Given the description of an element on the screen output the (x, y) to click on. 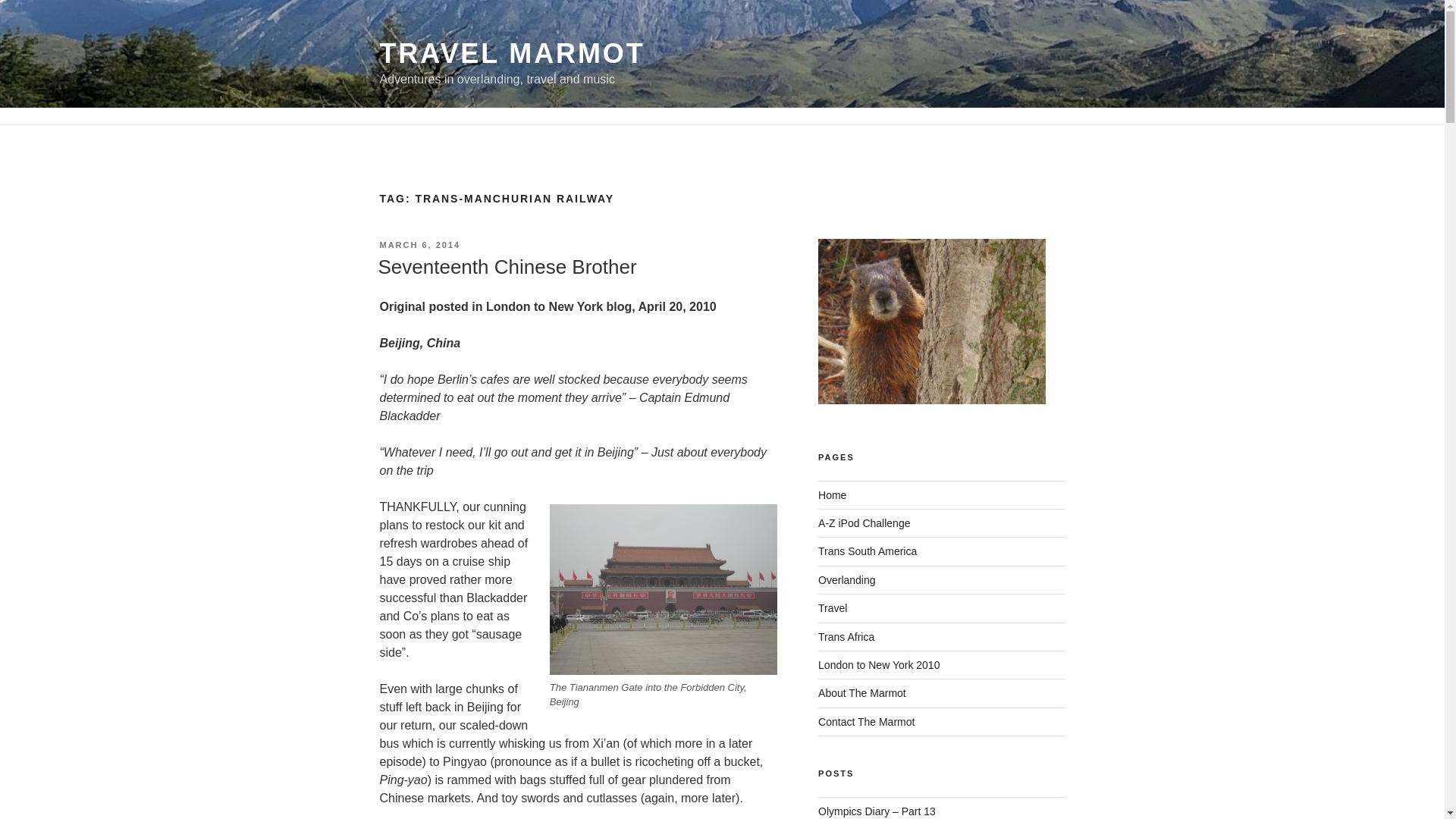
TRAVEL MARMOT (511, 52)
London to New York 2010 (878, 664)
About The Marmot (861, 693)
Contact The Marmot (866, 721)
Travel (832, 607)
Seventeenth Chinese Brother (506, 266)
Trans Africa (846, 636)
Home (831, 494)
Trans South America (867, 551)
A-Z iPod Challenge (864, 522)
